Given the description of an element on the screen output the (x, y) to click on. 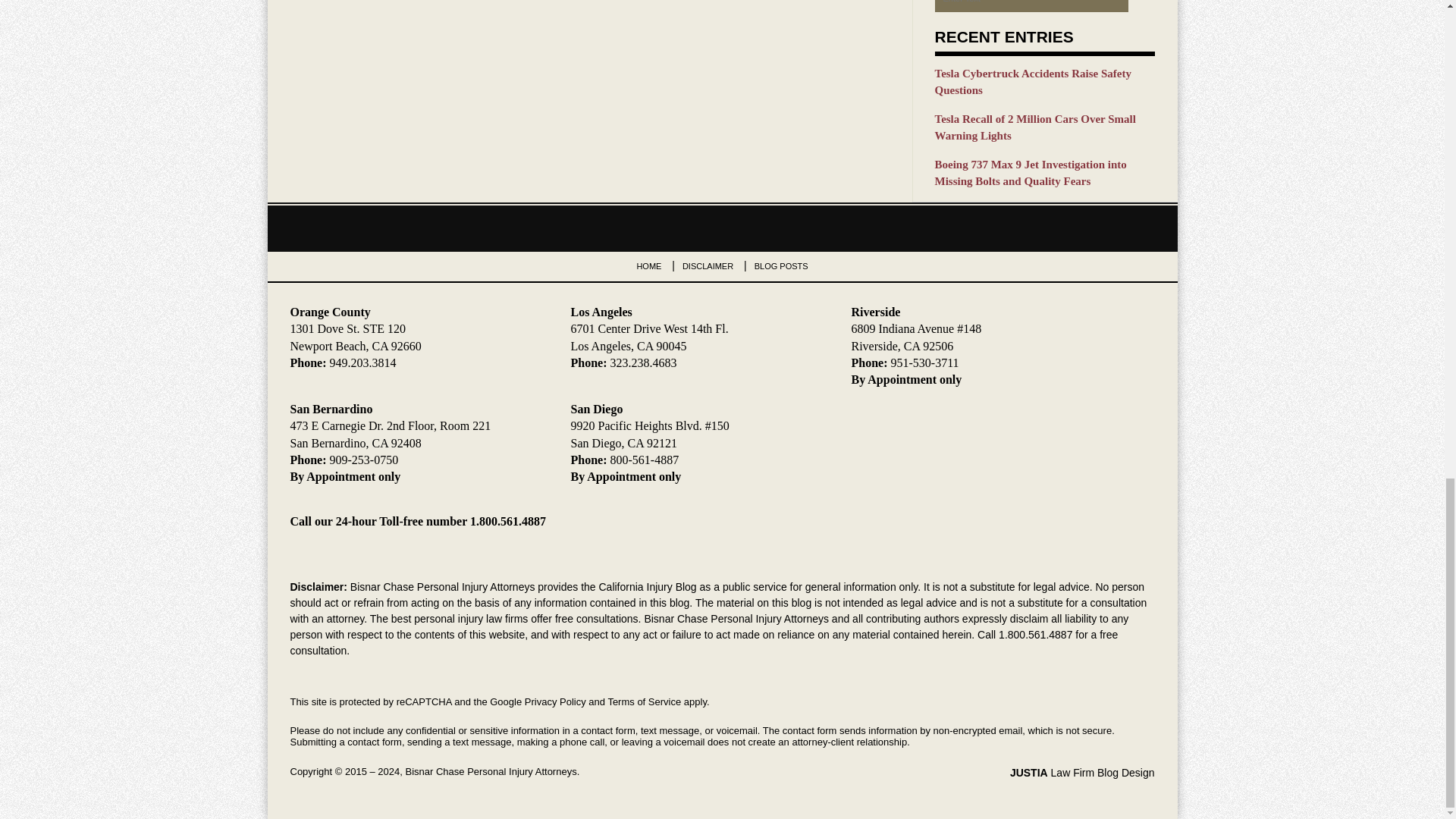
BLOG POSTS (780, 265)
Tesla Recall of 2 Million Cars Over Small Warning Lights (1044, 127)
DISCLAIMER (708, 265)
Privacy Policy (555, 701)
SEARCH (1141, 6)
Tesla Cybertruck Accidents Raise Safety Questions (1044, 82)
HOME (648, 265)
